Given the description of an element on the screen output the (x, y) to click on. 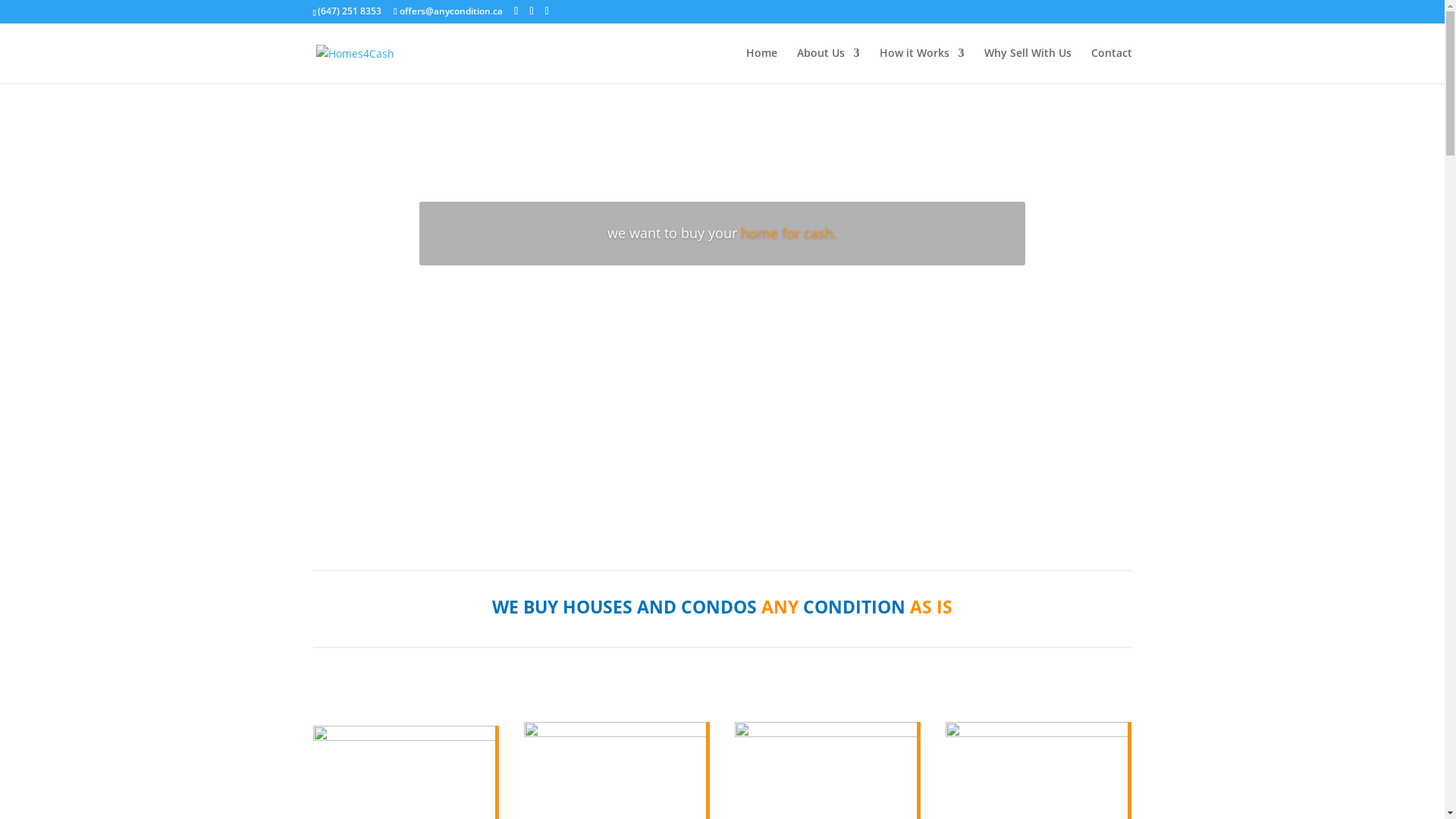
How it Works Element type: text (921, 65)
Contact Element type: text (1110, 65)
Home Element type: text (761, 65)
(647) 251 8353 Element type: text (349, 10)
offers@anycondition.ca Element type: text (447, 10)
About Us Element type: text (827, 65)
Why Sell With Us Element type: text (1027, 65)
